Given the description of an element on the screen output the (x, y) to click on. 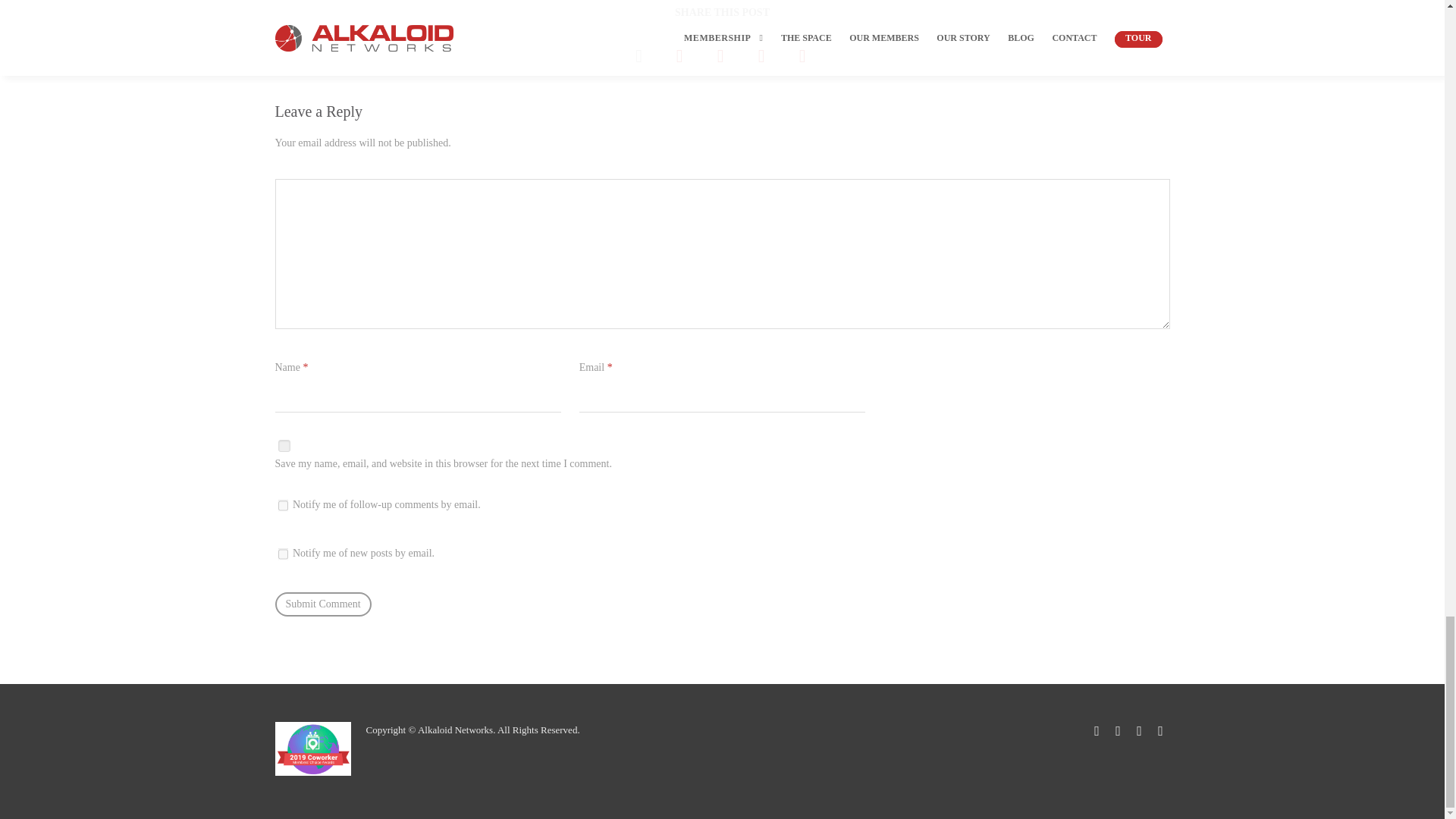
yes (283, 445)
Submit Comment (323, 604)
